Given the description of an element on the screen output the (x, y) to click on. 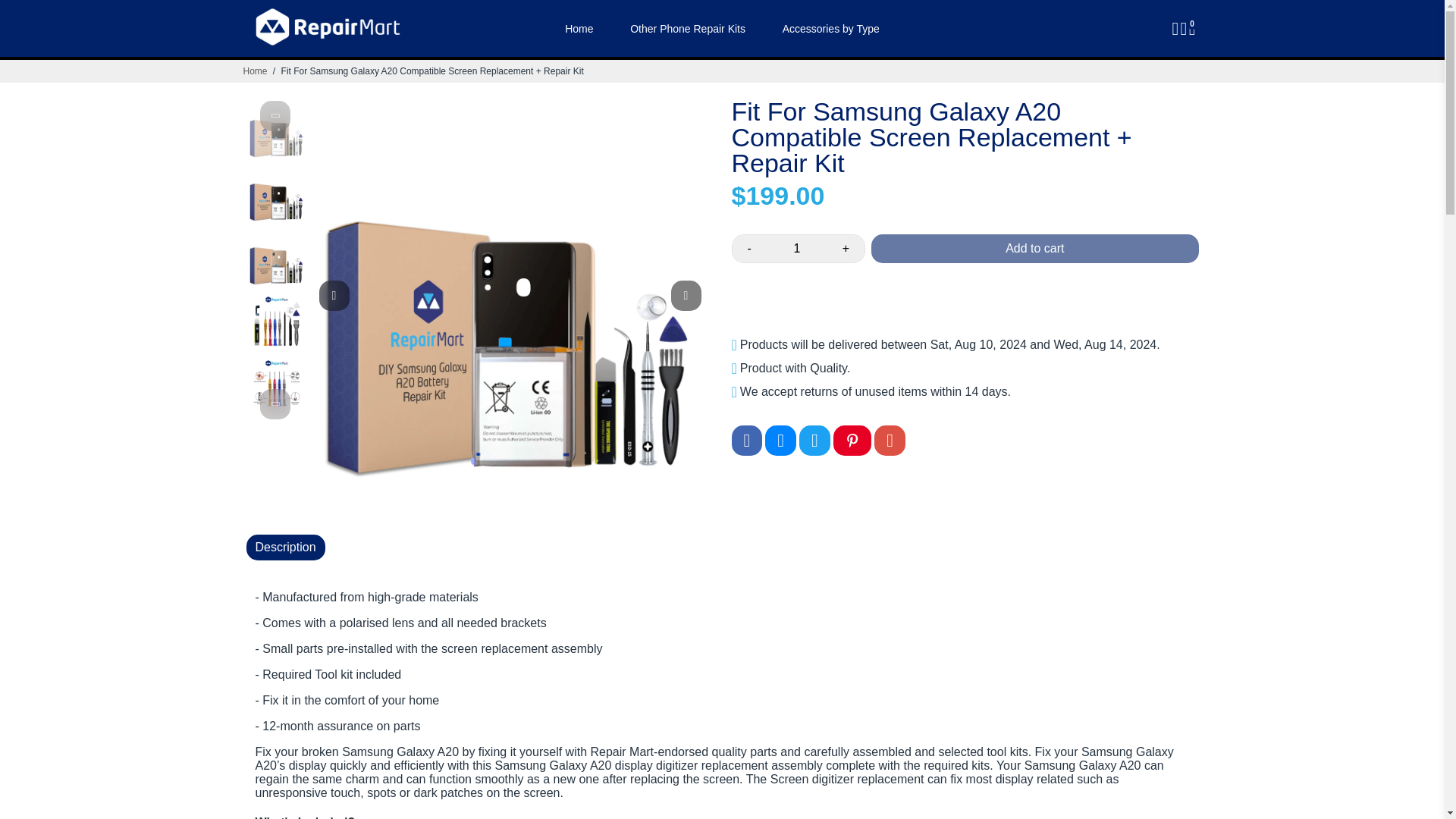
1 (797, 248)
Home (254, 71)
- (749, 248)
Add to cart (1034, 248)
Home (579, 28)
Other Phone Repair Kits (687, 28)
Home (254, 71)
Accessories by Type (831, 28)
